Given the description of an element on the screen output the (x, y) to click on. 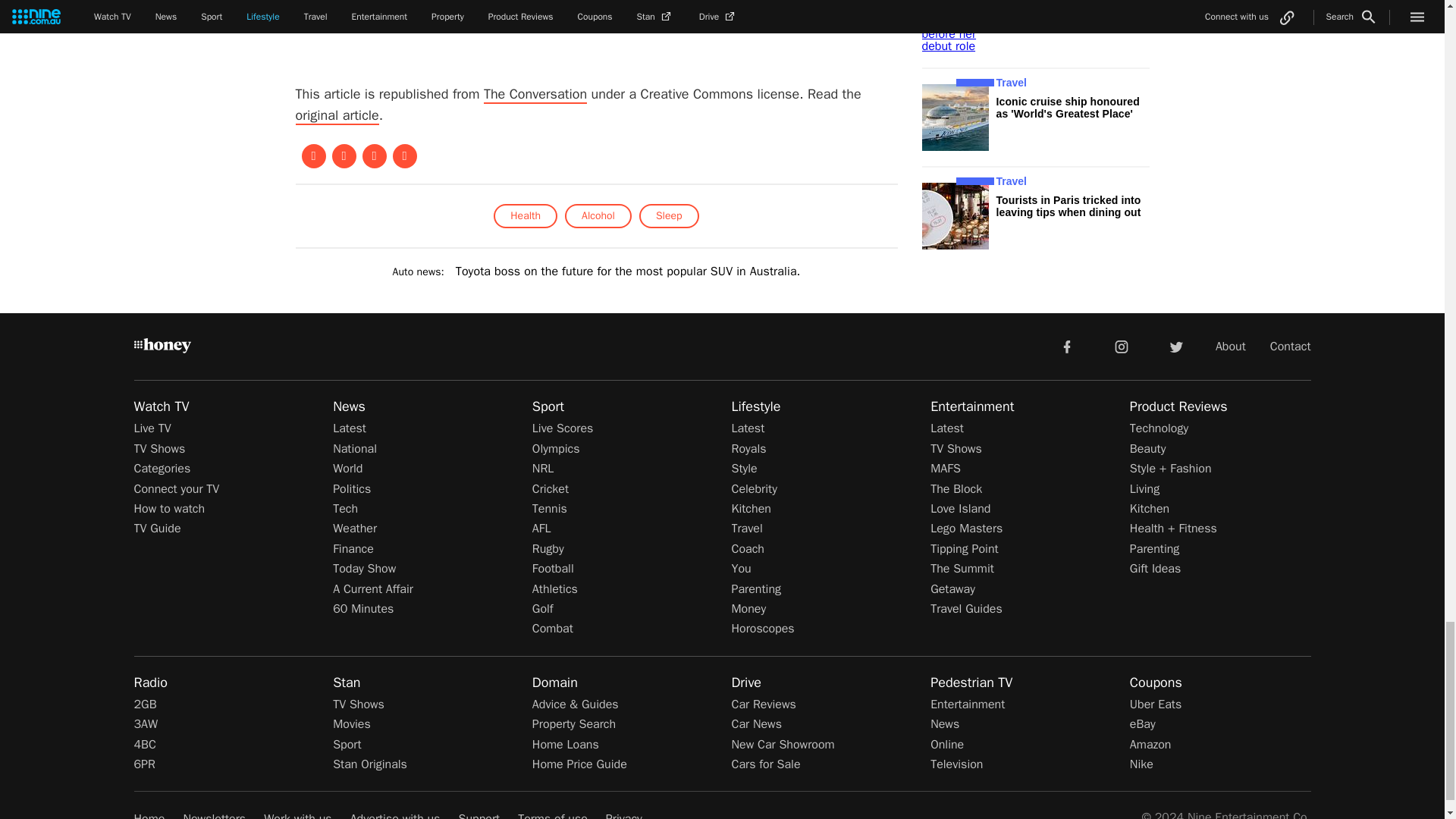
instagram (1121, 346)
facebook (1066, 346)
twitter (1175, 346)
